Given the description of an element on the screen output the (x, y) to click on. 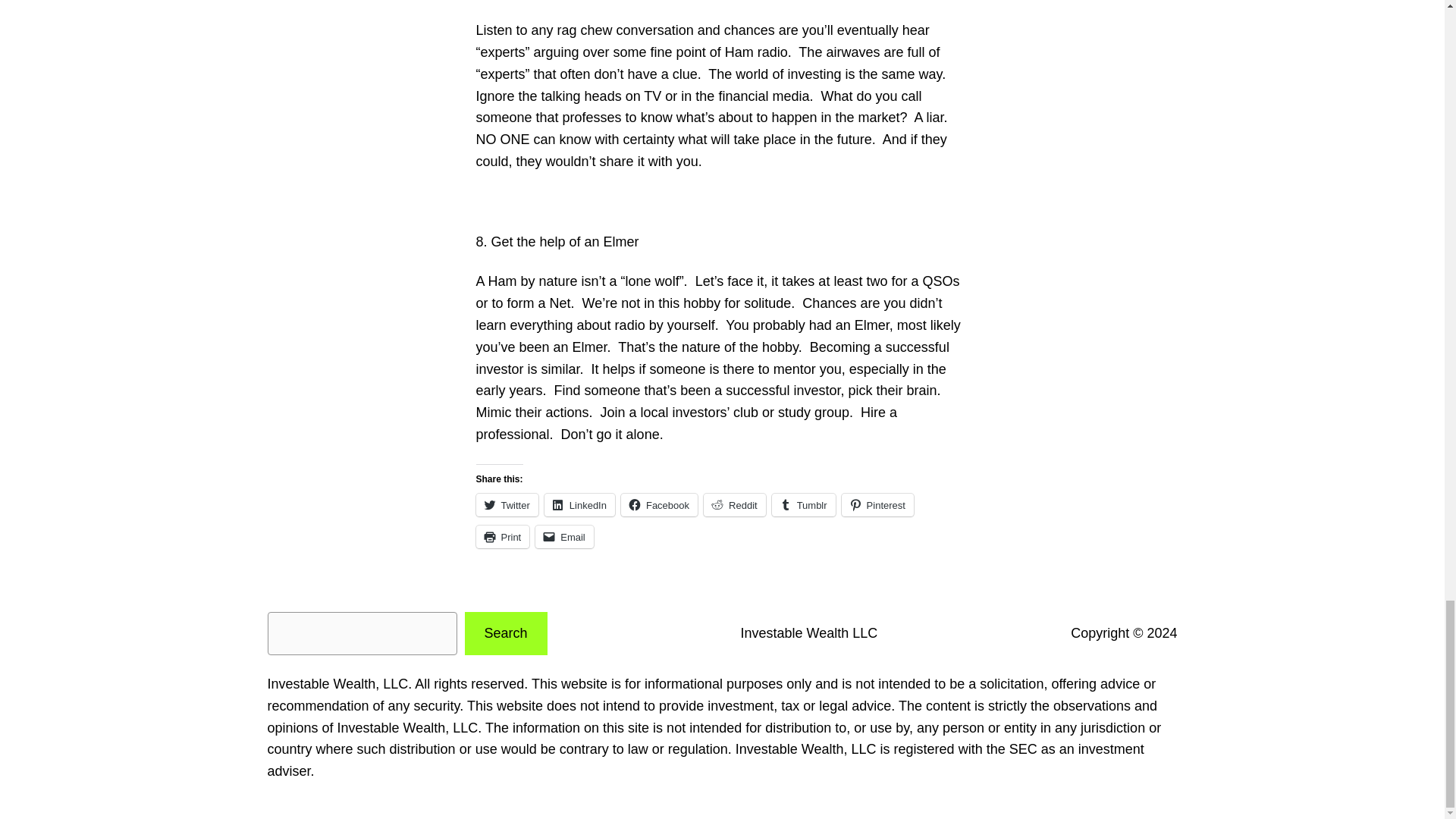
Twitter (507, 504)
LinkedIn (579, 504)
Click to share on Facebook (659, 504)
Facebook (659, 504)
Click to share on LinkedIn (579, 504)
Click to share on Tumblr (803, 504)
Click to print (502, 536)
Search (505, 633)
Email (564, 536)
Click to share on Twitter (507, 504)
Tumblr (803, 504)
Print (502, 536)
Click to share on Reddit (734, 504)
Click to share on Pinterest (877, 504)
Click to email a link to a friend (564, 536)
